Given the description of an element on the screen output the (x, y) to click on. 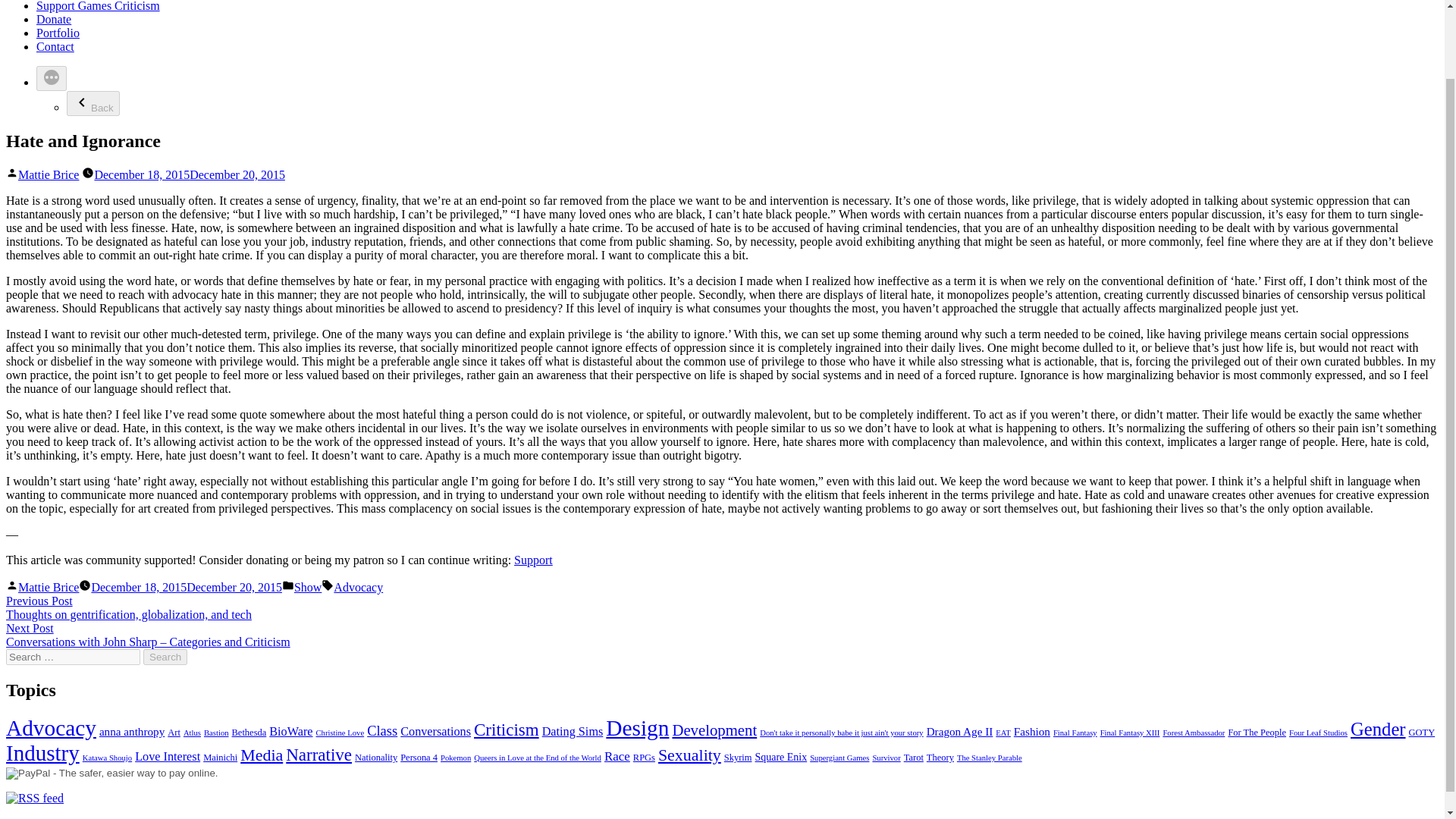
Class (381, 730)
Don't take it personally babe it just ain't your story (841, 732)
Support Games Criticism (98, 6)
December 18, 2015December 20, 2015 (188, 174)
Search (164, 657)
anna anthropy (131, 730)
Dating Sims (572, 731)
Christine Love (340, 732)
Criticism (506, 729)
Forest Ambassador (1192, 732)
Support (533, 559)
Advocacy (357, 586)
EAT (1002, 732)
Search (164, 657)
Final Fantasy (1074, 732)
